Given the description of an element on the screen output the (x, y) to click on. 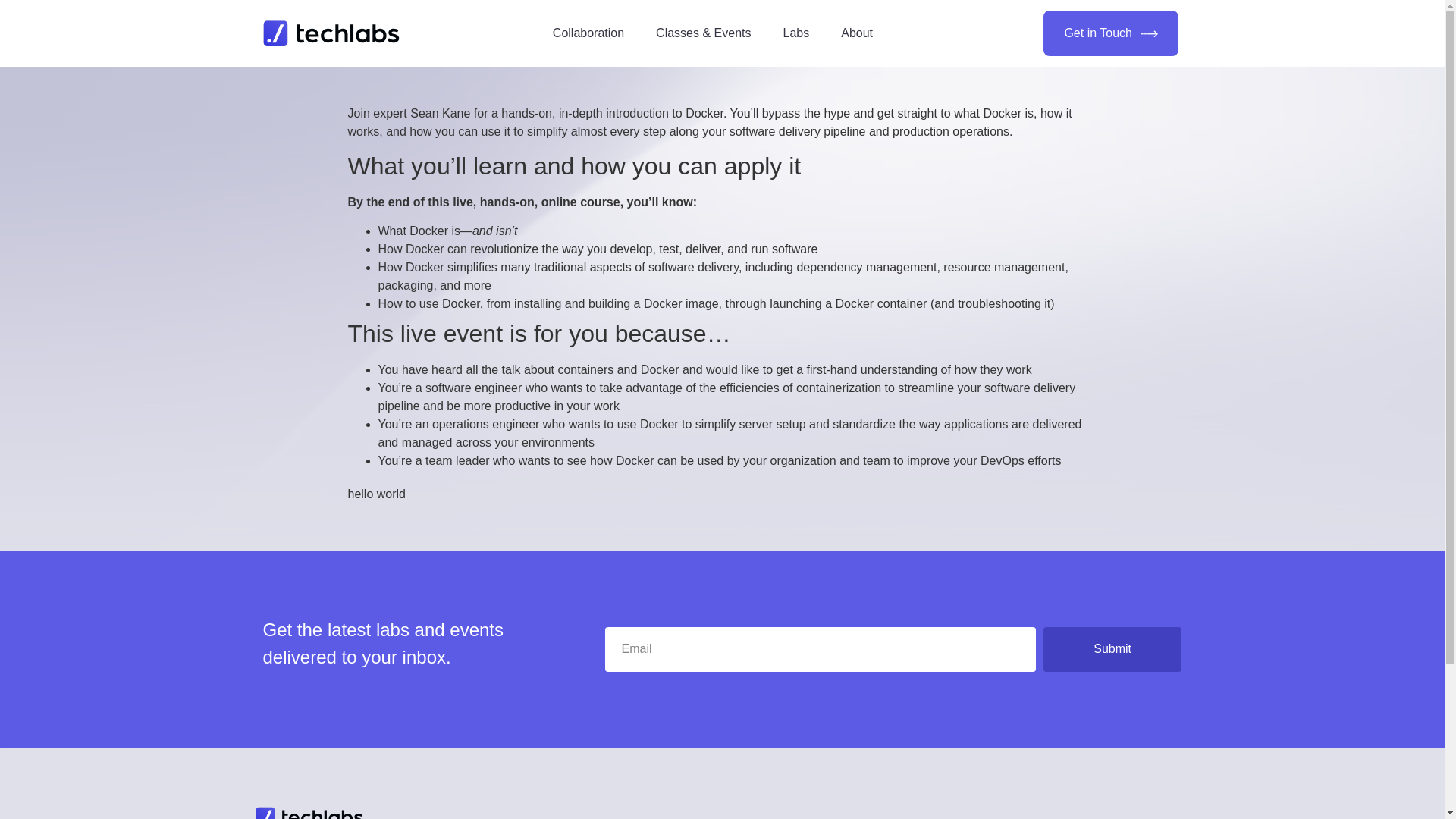
Collaboration (588, 32)
About (856, 32)
Submit (1112, 649)
Get in Touch (1110, 33)
Labs (796, 32)
